Given the description of an element on the screen output the (x, y) to click on. 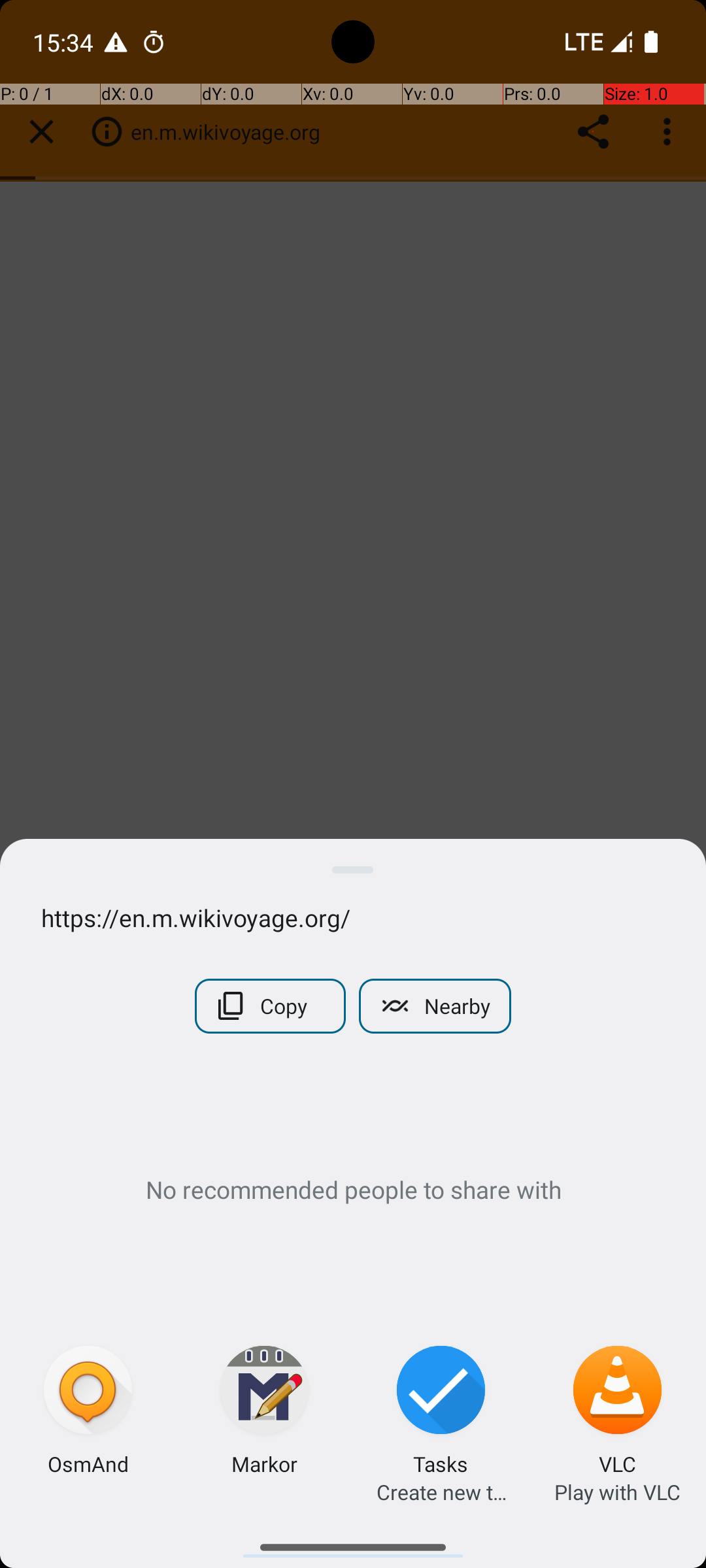
Apps list Element type: android.widget.ImageView (353, 1541)
https://en.m.wikivoyage.org/ Element type: android.widget.TextView (352, 917)
Copy Element type: android.widget.Button (269, 1005)
Nearby Element type: android.widget.Button (434, 1005)
No recommended people to share with Element type: android.widget.TextView (353, 1189)
OsmAnd Element type: android.widget.TextView (87, 1463)
Create new task Element type: android.widget.TextView (440, 1491)
VLC Element type: android.widget.TextView (617, 1463)
Play with VLC Element type: android.widget.TextView (617, 1491)
